Given the description of an element on the screen output the (x, y) to click on. 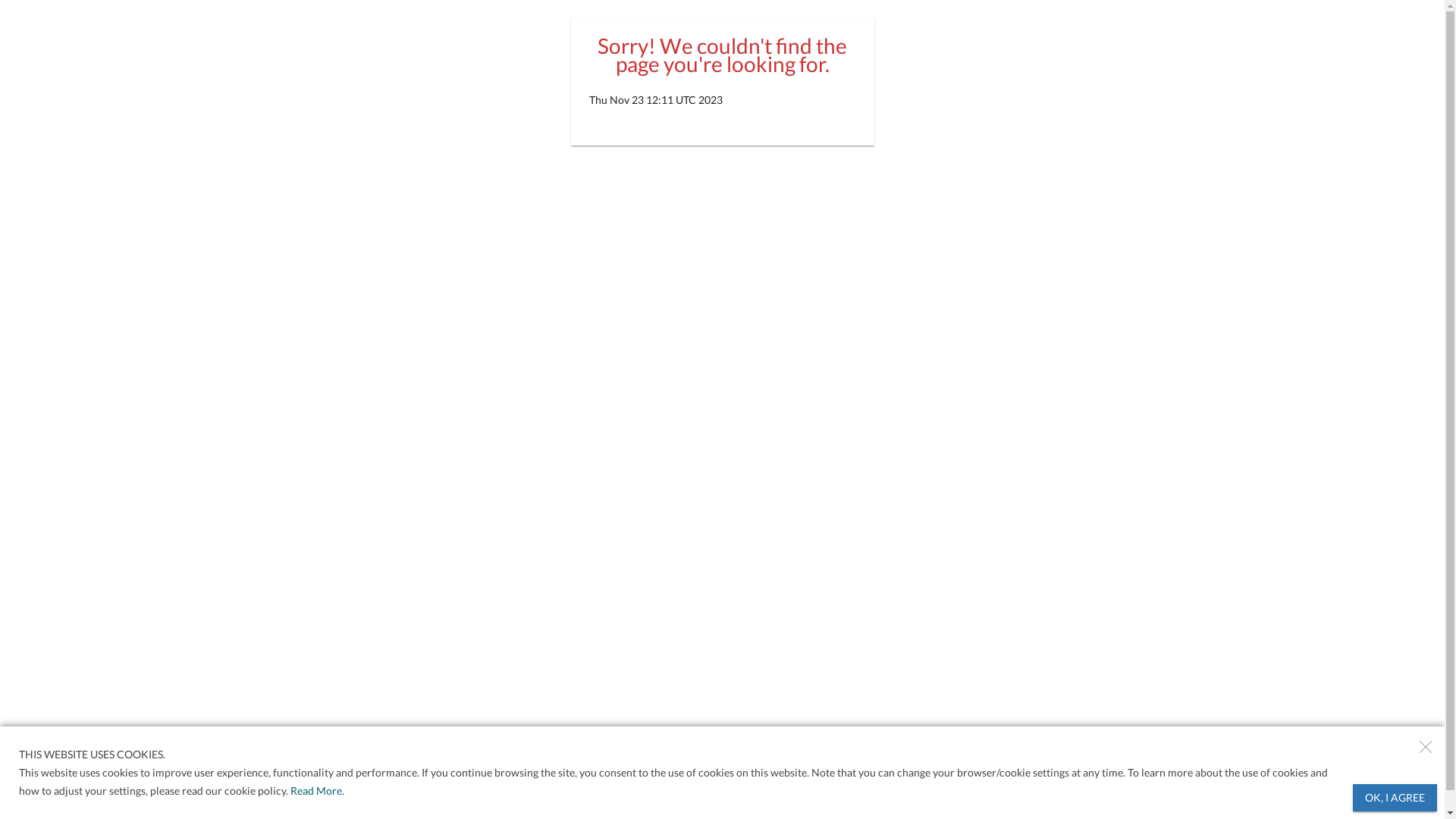
OK, I AGREE Element type: text (1394, 798)
 Read More. Element type: text (316, 790)
